Given the description of an element on the screen output the (x, y) to click on. 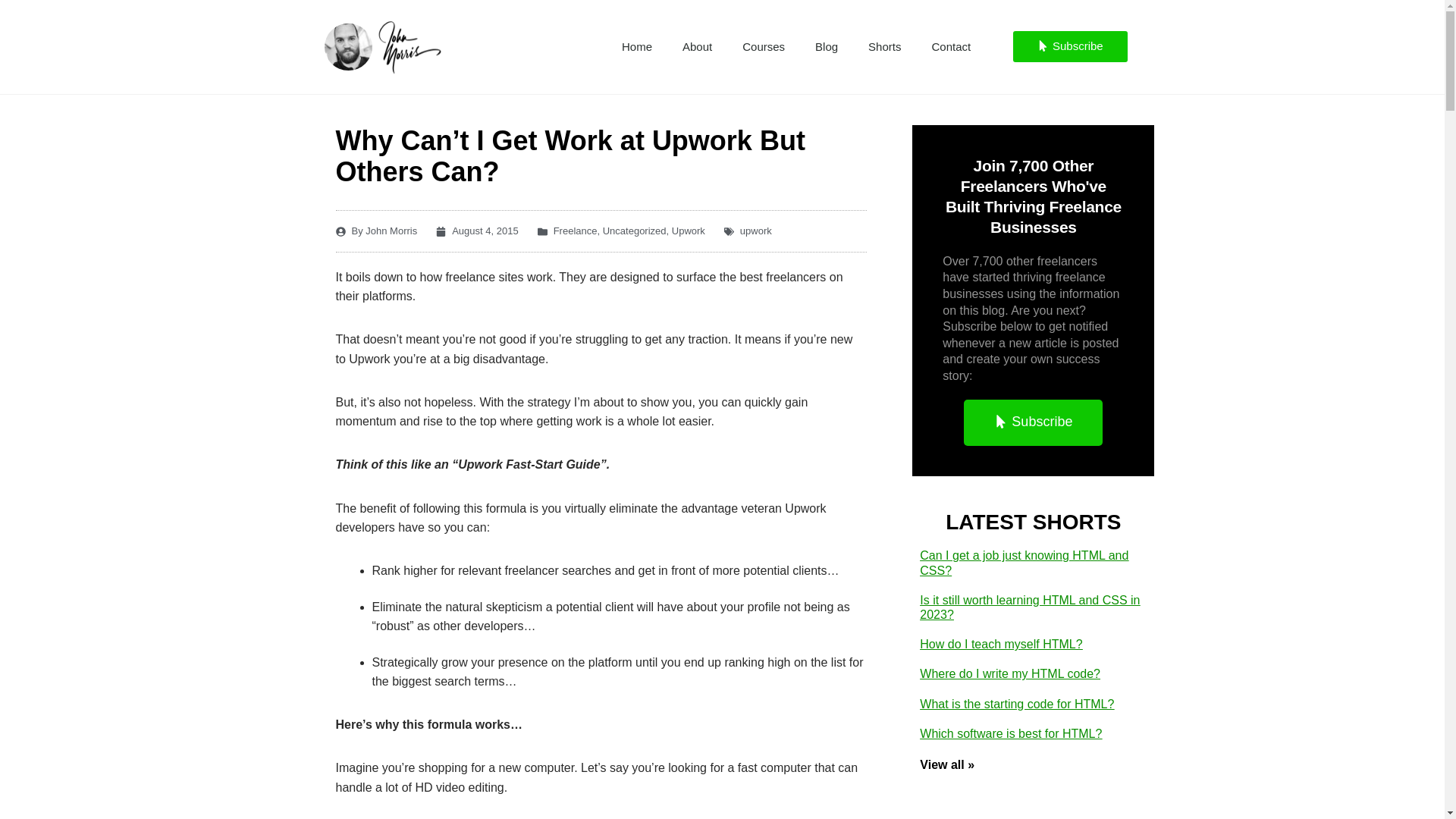
Freelance (574, 230)
Upwork (687, 230)
upwork (755, 230)
Subscribe (1069, 46)
By John Morris (375, 230)
August 4, 2015 (476, 230)
Uncategorized (634, 230)
Courses (762, 47)
Contact (950, 47)
